Given the description of an element on the screen output the (x, y) to click on. 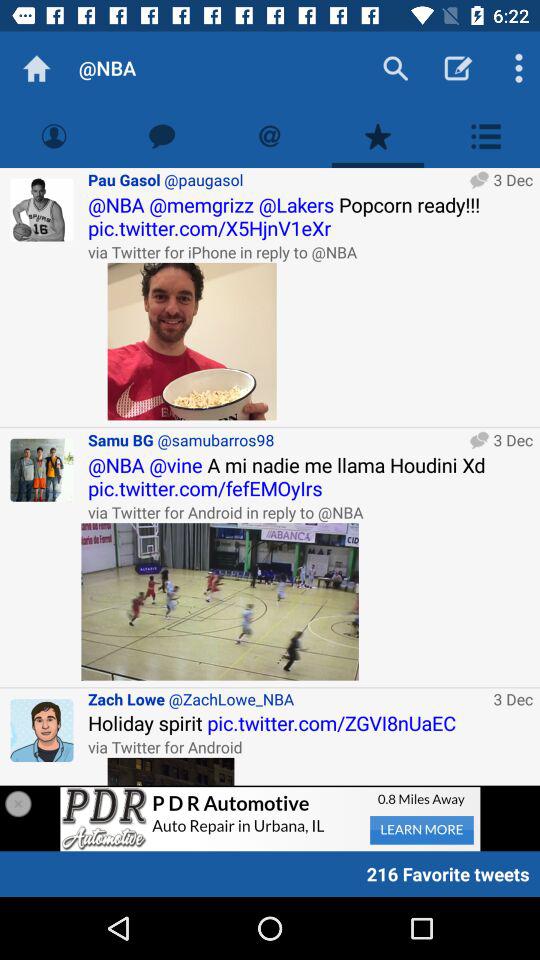
swipe until pau gasol @paugasol item (275, 179)
